Given the description of an element on the screen output the (x, y) to click on. 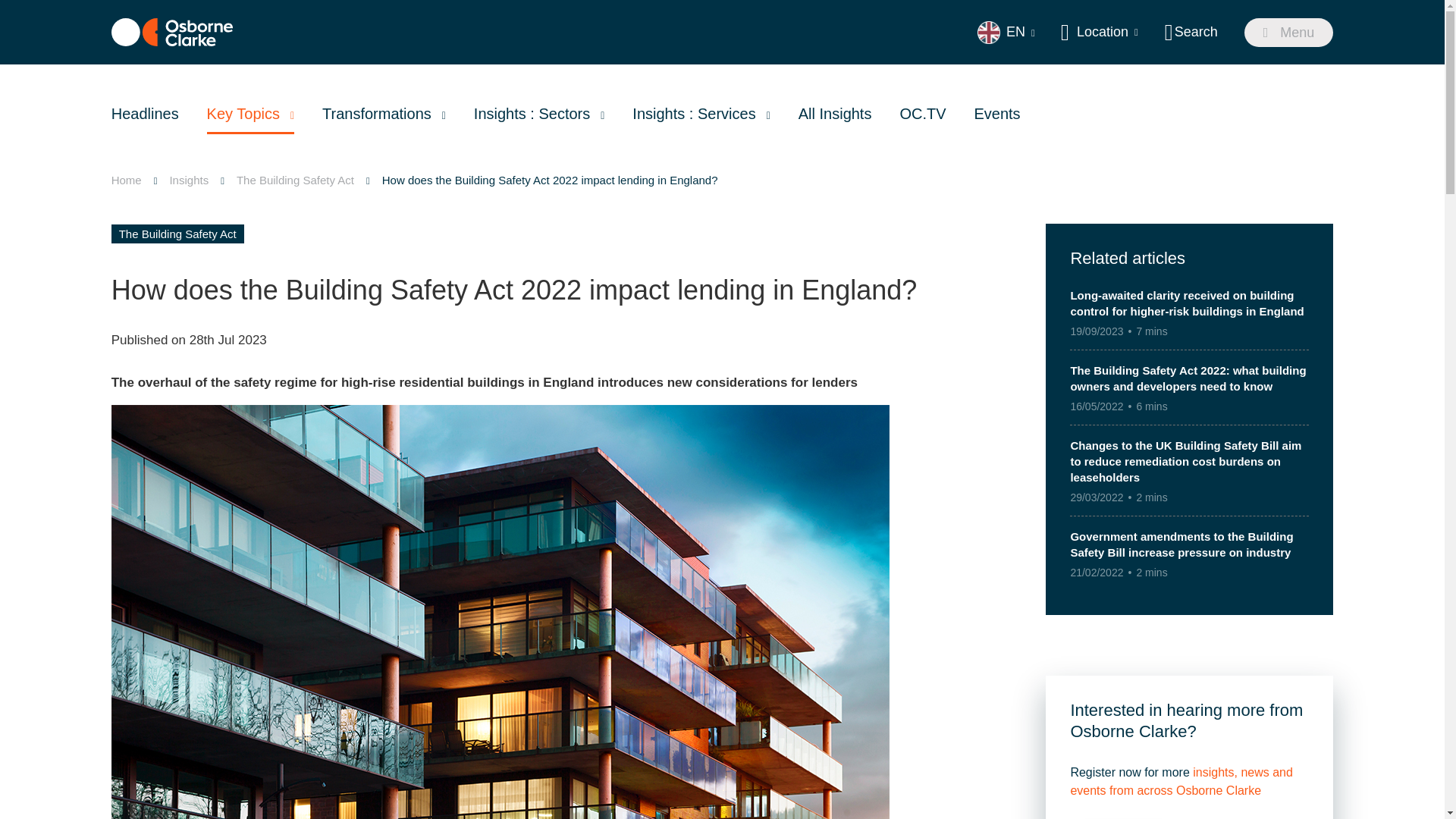
Osborne Clarke (172, 32)
Menu (1288, 32)
